Given the description of an element on the screen output the (x, y) to click on. 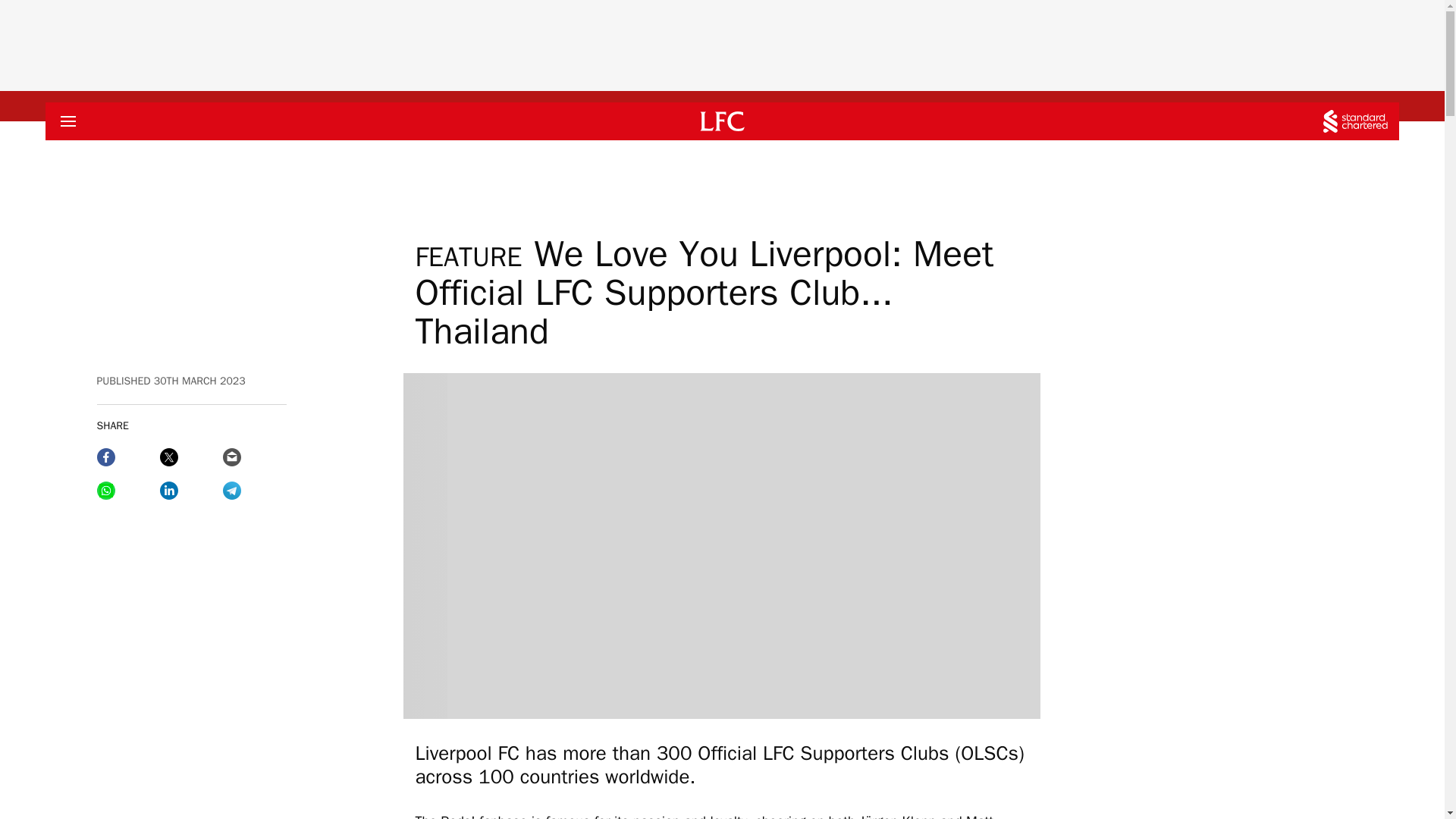
Email (253, 456)
LinkedIn (191, 490)
Facebook (128, 456)
Standard Chartered (1355, 120)
Twitter (191, 456)
Telegram (253, 490)
WhatsApp (128, 490)
Home (722, 121)
